Given the description of an element on the screen output the (x, y) to click on. 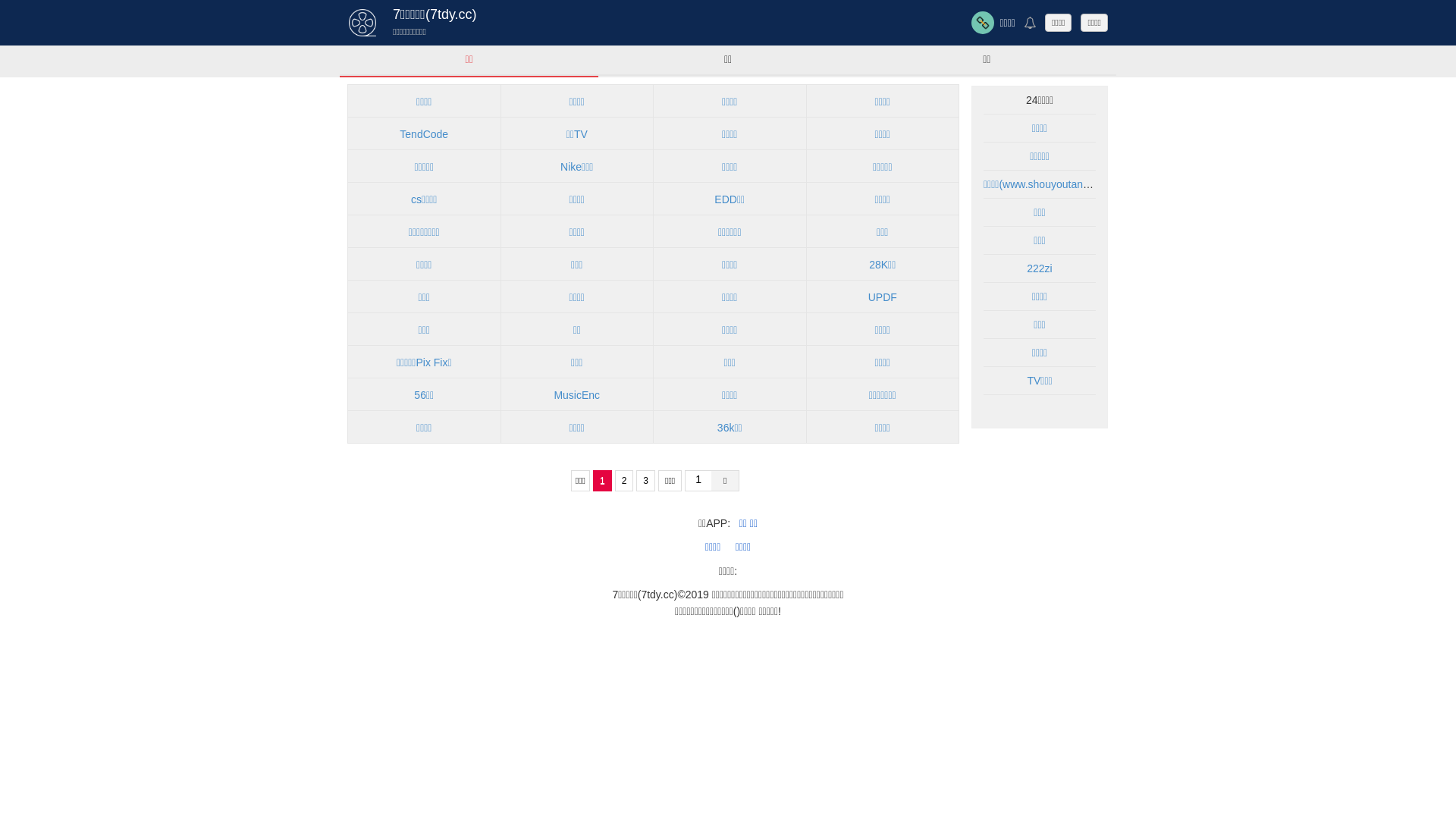
TendCode Element type: text (423, 133)
1 Element type: text (602, 480)
2 Element type: text (624, 480)
MusicEnc Element type: text (576, 394)
222zi Element type: text (1038, 268)
3 Element type: text (645, 480)
UPDF Element type: text (882, 296)
